Given the description of an element on the screen output the (x, y) to click on. 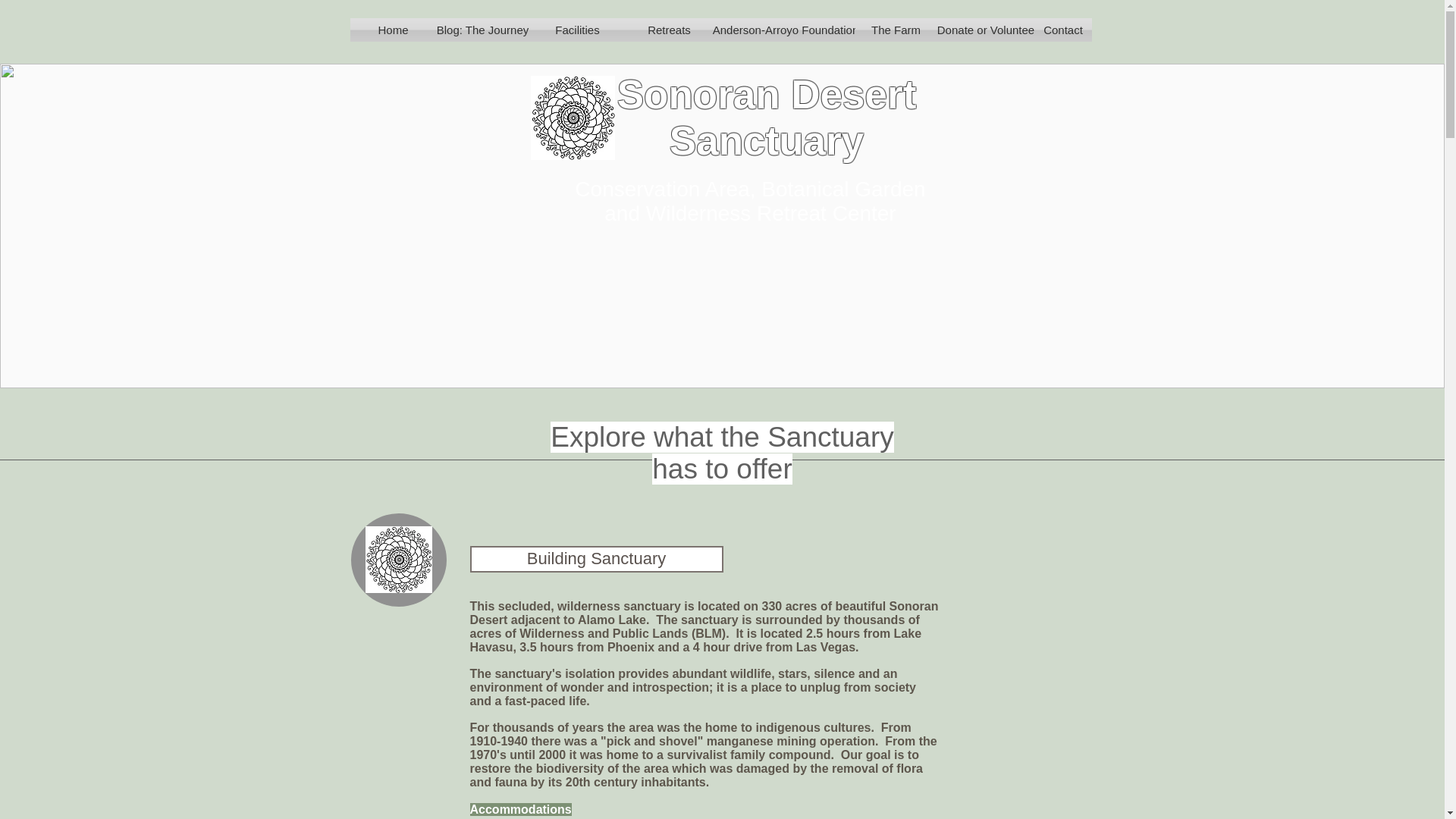
Sonoran Desert Sanctuary (767, 117)
Blog: The Journey (482, 29)
Retreats (669, 29)
Facilities (577, 29)
Donate or Volunteer (988, 29)
Anderson-Arroyo Foundation (786, 29)
The Farm (896, 29)
Home (393, 29)
Contact (1061, 29)
